Given the description of an element on the screen output the (x, y) to click on. 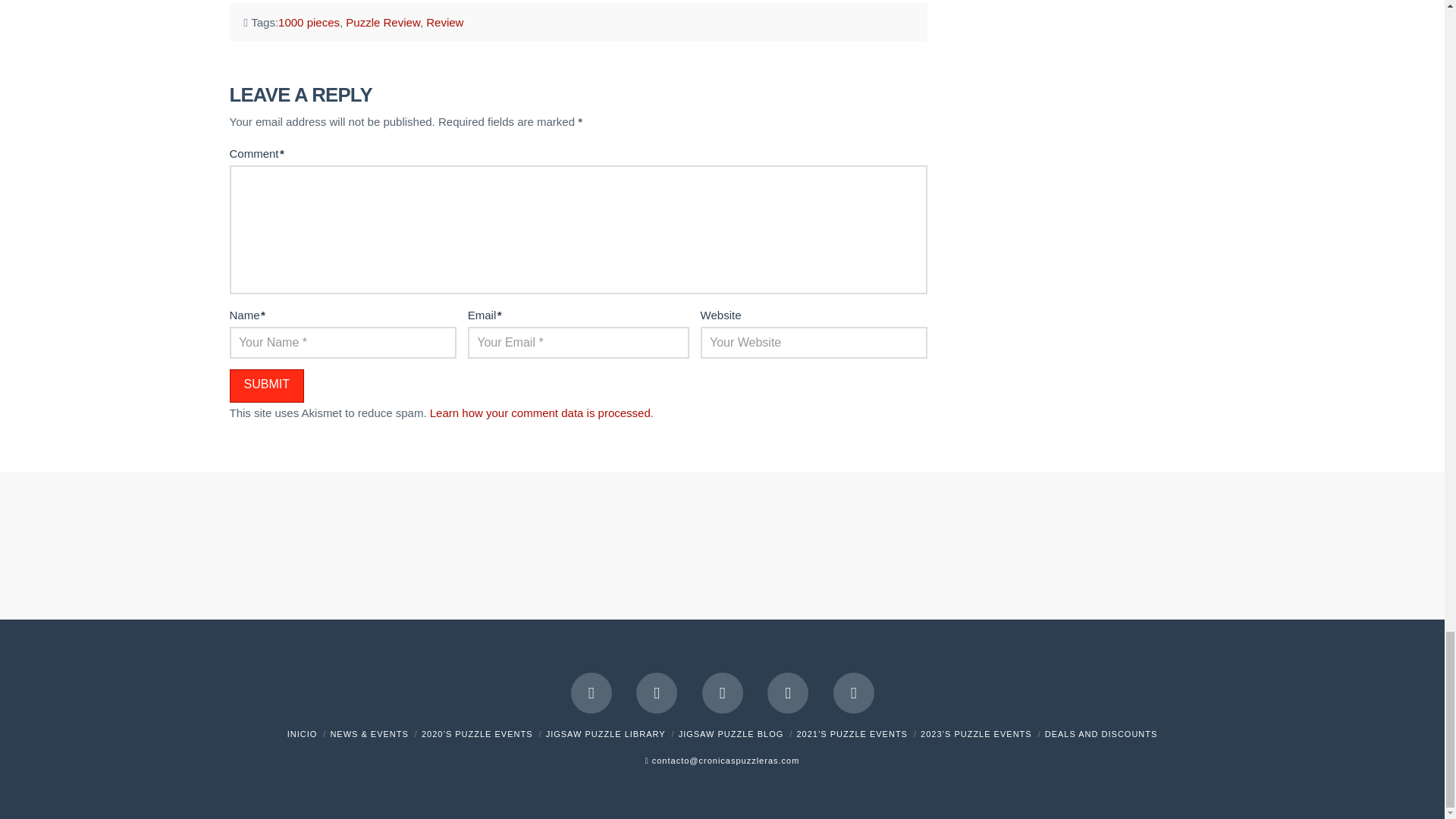
Facebook (590, 692)
Submit (265, 386)
YouTube (721, 692)
